Given the description of an element on the screen output the (x, y) to click on. 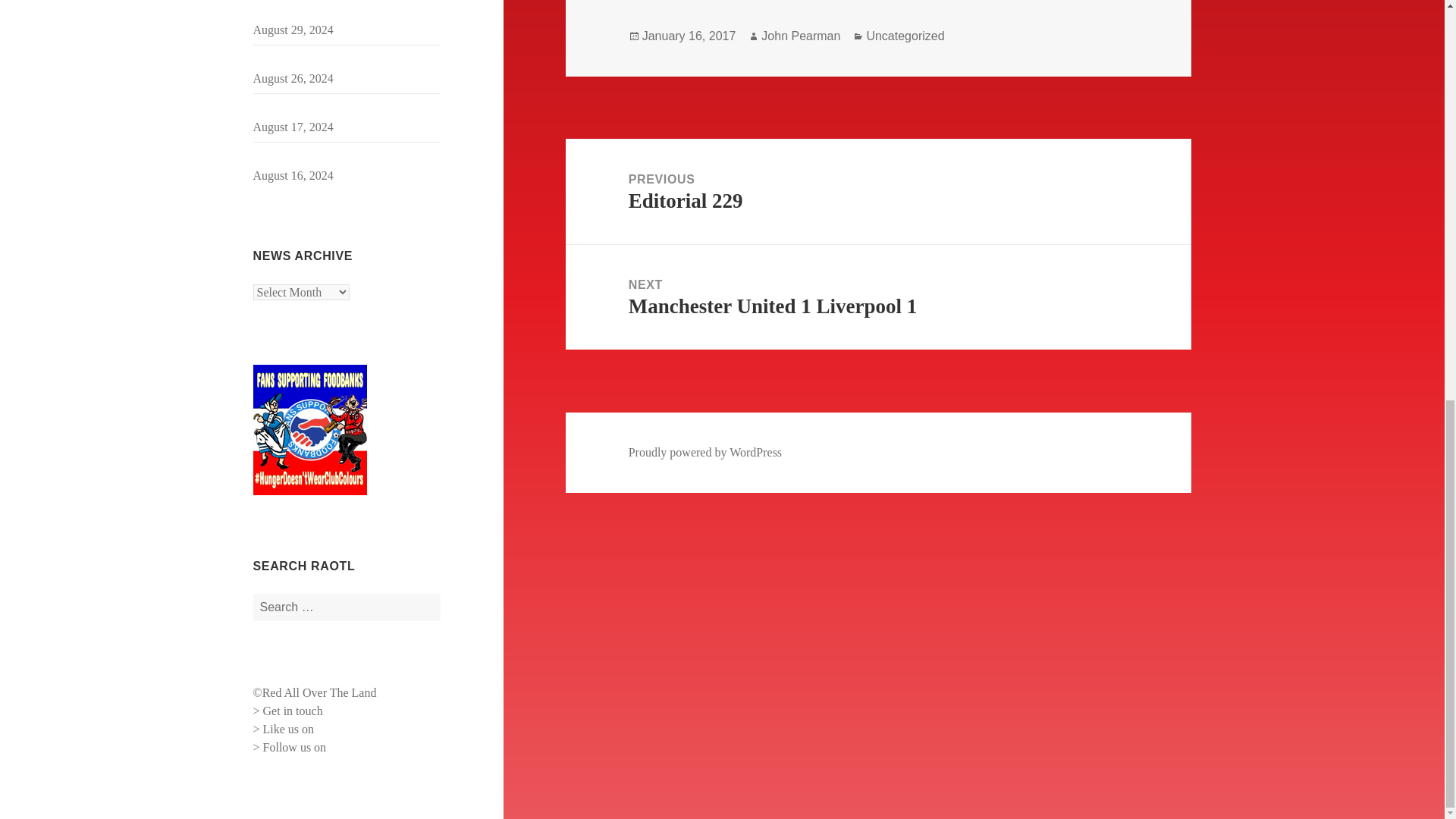
January 16, 2017 (689, 36)
New Faces Total None. (309, 156)
Uncategorized (904, 36)
John Pearman (800, 36)
That Will Do Nicely (302, 108)
Search (878, 191)
Twitter (340, 728)
